Given the description of an element on the screen output the (x, y) to click on. 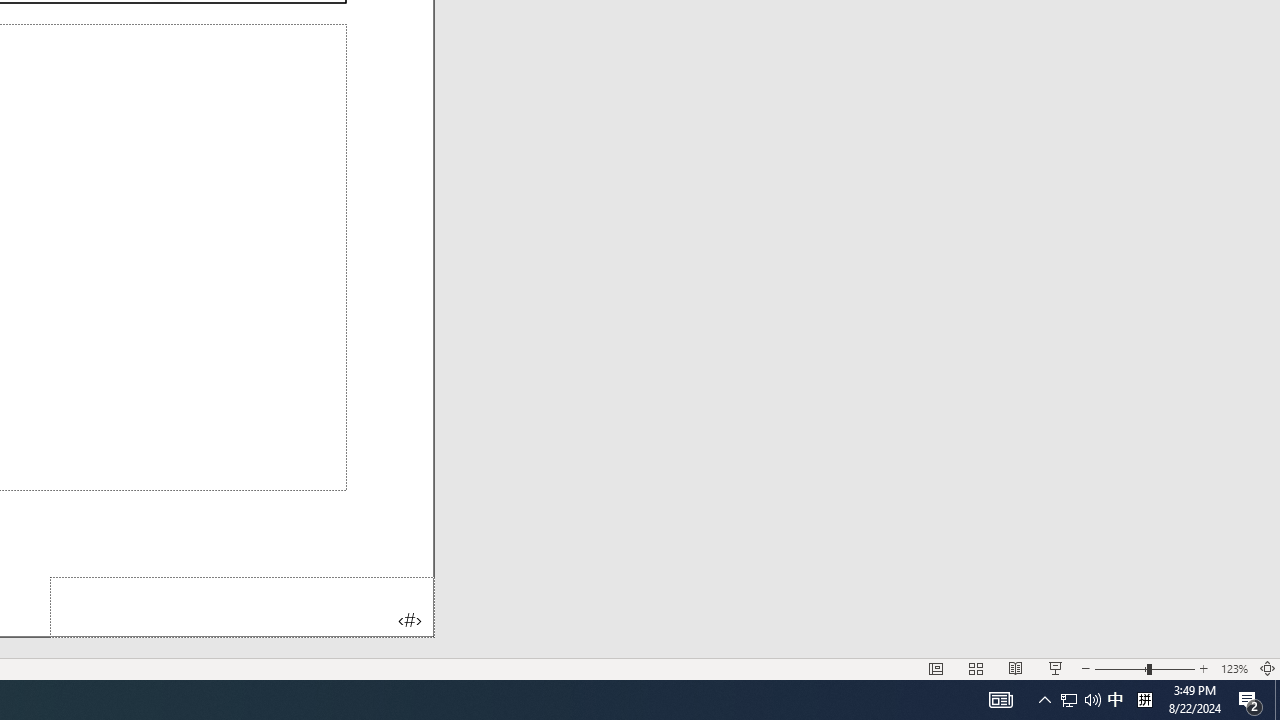
Zoom 123% (1234, 668)
Page Number (242, 606)
